Given the description of an element on the screen output the (x, y) to click on. 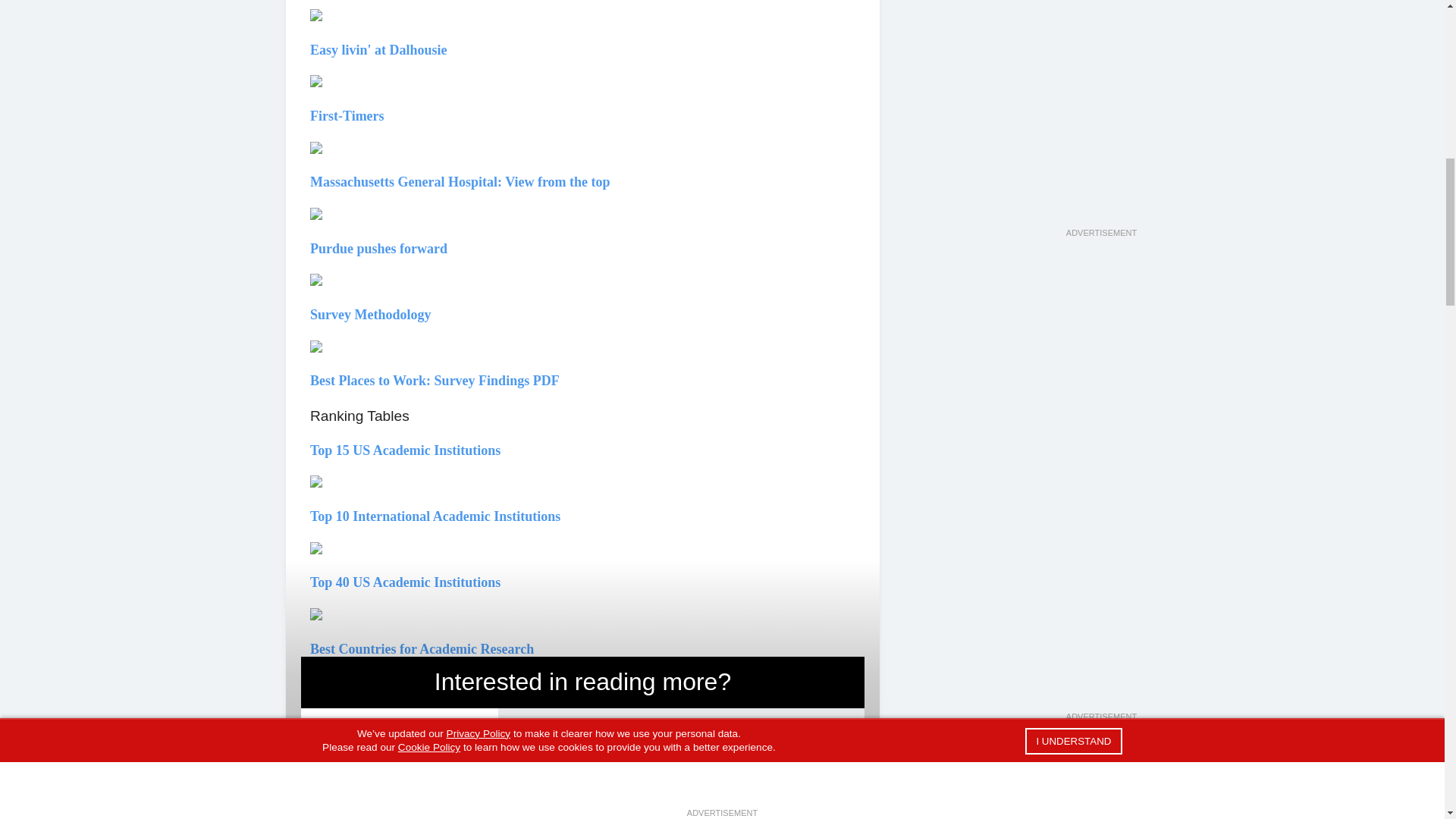
3rd party ad content (1100, 615)
Magaizne Cover (399, 789)
3rd party ad content (1100, 113)
